Given the description of an element on the screen output the (x, y) to click on. 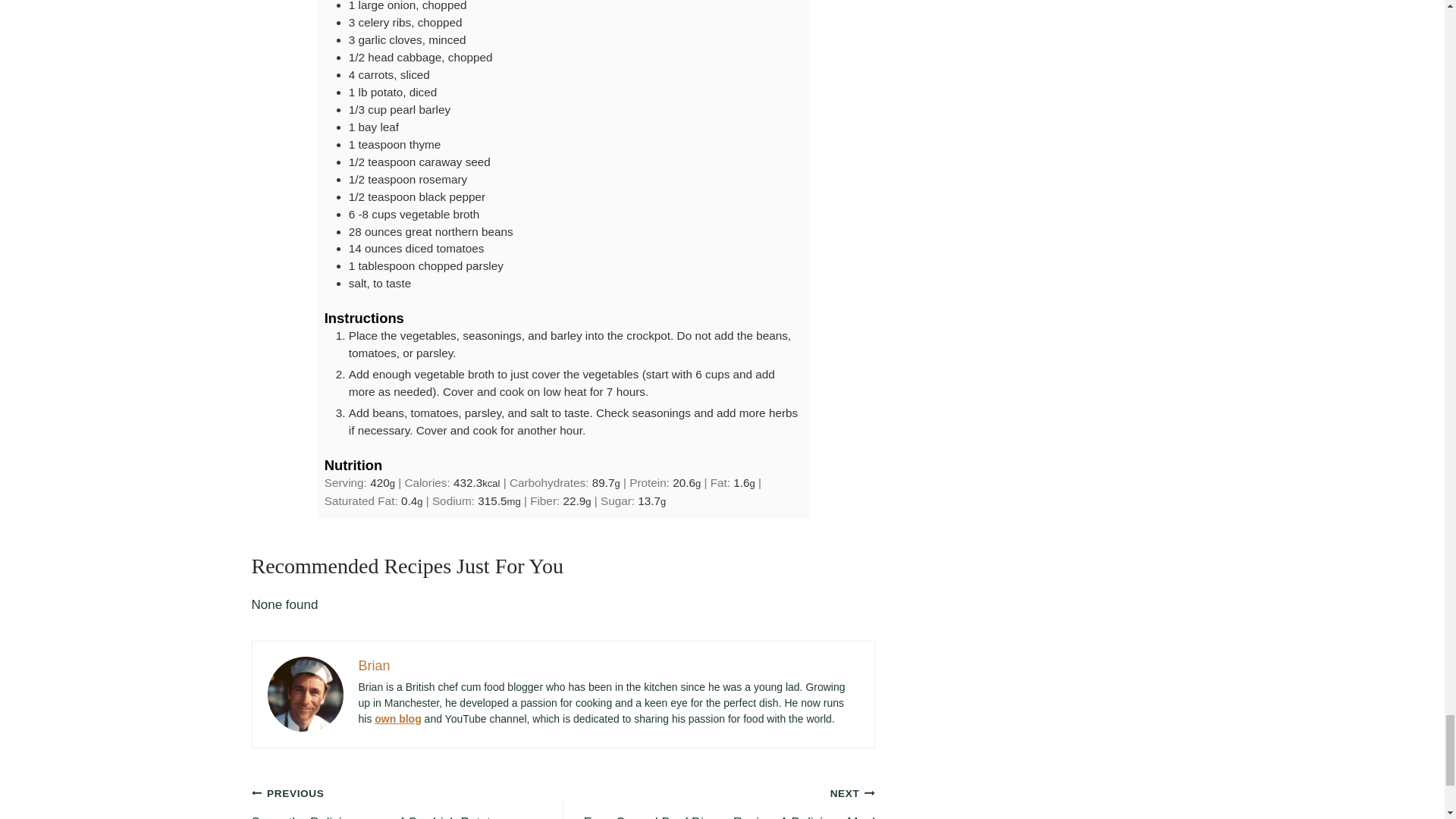
own blog (397, 718)
Brian (374, 665)
